Given the description of an element on the screen output the (x, y) to click on. 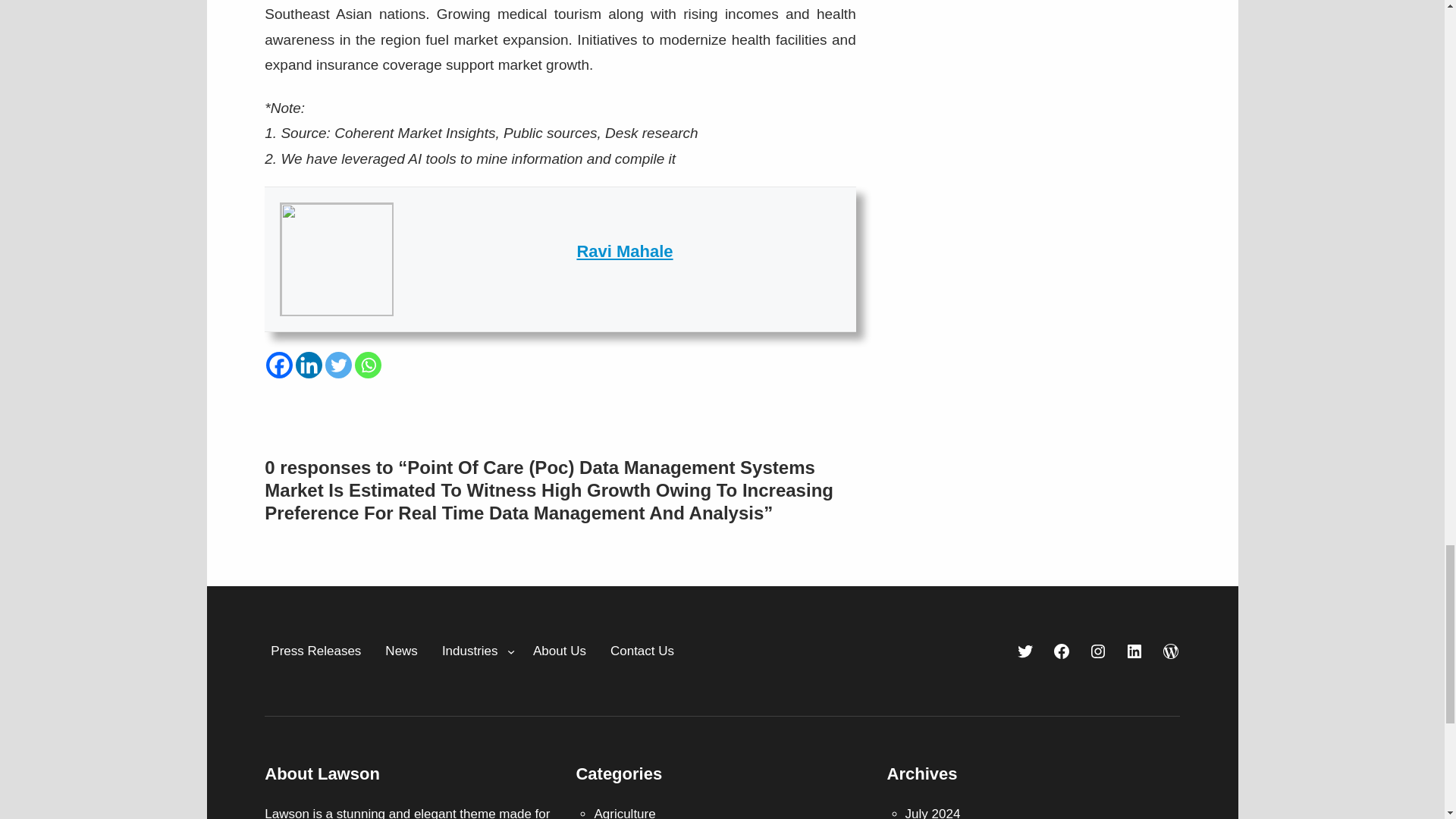
Ravi Mahale (624, 251)
